Given the description of an element on the screen output the (x, y) to click on. 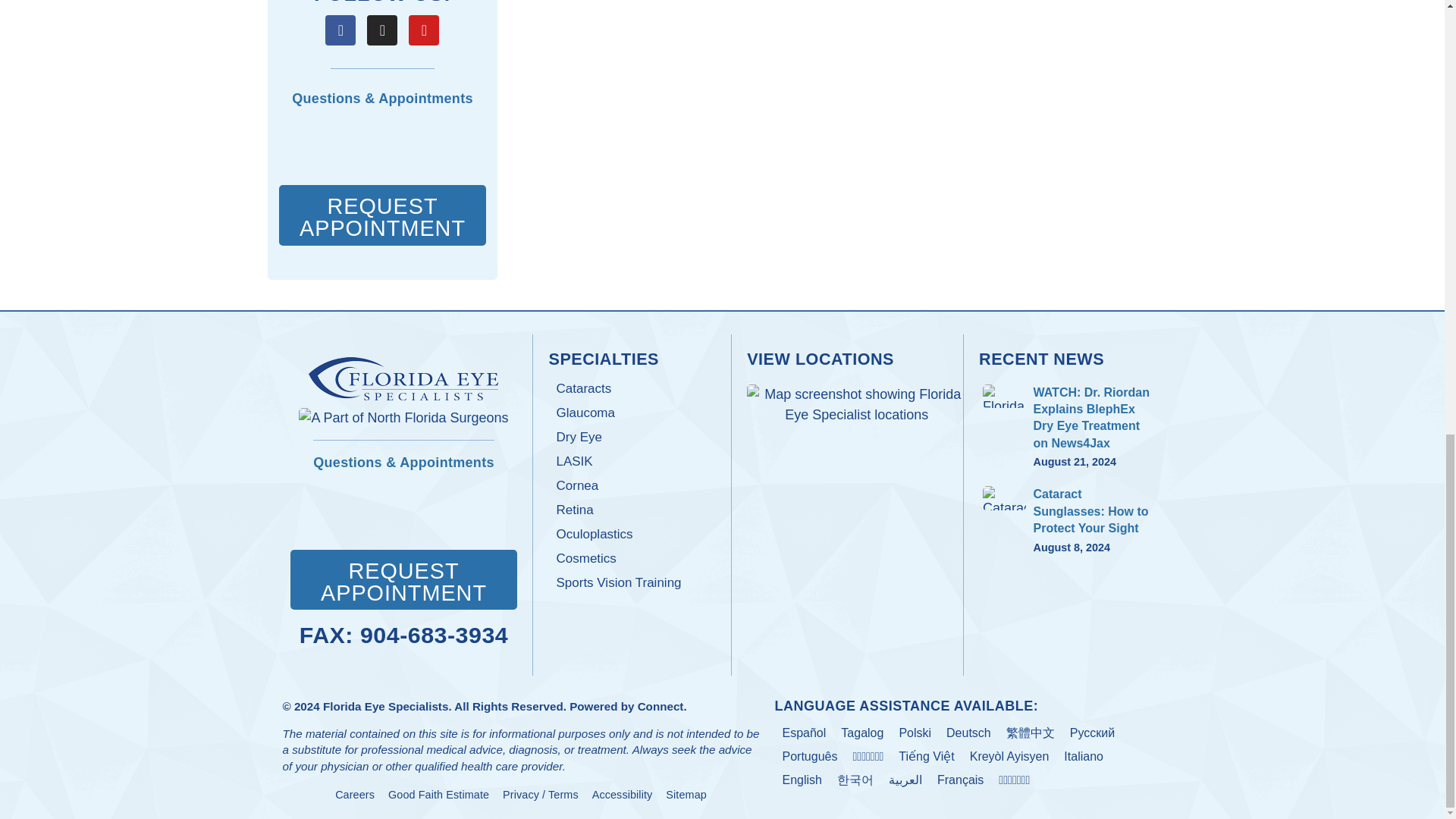
Oculoplastics Center (632, 534)
LASIK Center (632, 461)
Glaucoma Center (632, 413)
Visit North Florida Surgeons website - opens in new window (403, 418)
Dry Eye Center (632, 437)
Cosmetic Center (632, 558)
Cataract Center (632, 388)
Cornea Center (632, 485)
